Given the description of an element on the screen output the (x, y) to click on. 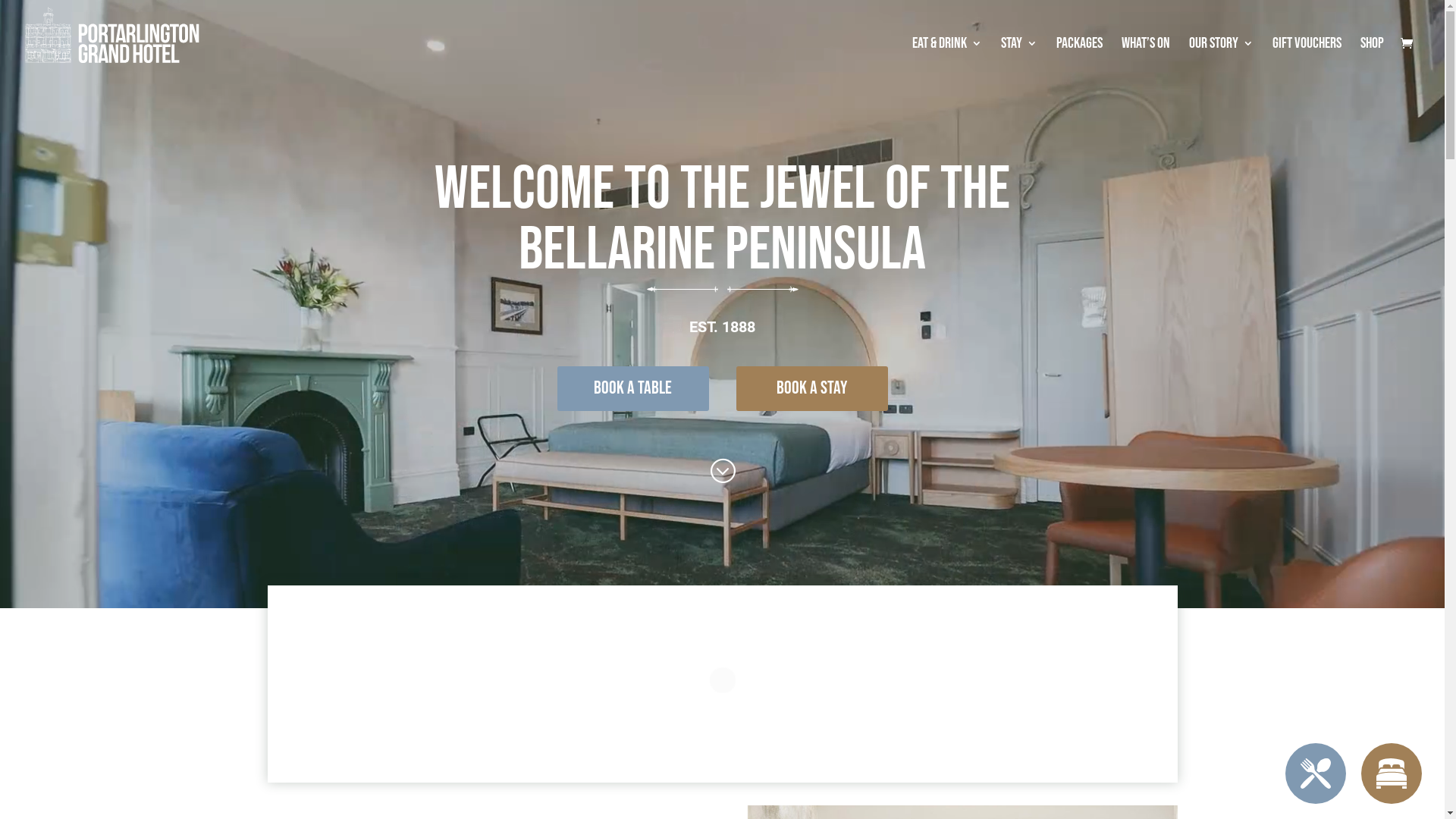
Eat & Drink Element type: text (947, 61)
BOOK A TABLE Element type: hover (1315, 773)
Gift vouchers Element type: text (1306, 61)
Shop Element type: text (1371, 61)
BOOK A TABLE Element type: text (632, 388)
BOOK A STAY Element type: text (811, 388)
Divider-ArrowWhite Element type: hover (721, 288)
Stay Element type: text (1019, 61)
Packages Element type: text (1079, 61)
BOOK ACCOMMODATION Element type: hover (1391, 773)
Our Story Element type: text (1221, 61)
; Element type: text (722, 469)
